Given the description of an element on the screen output the (x, y) to click on. 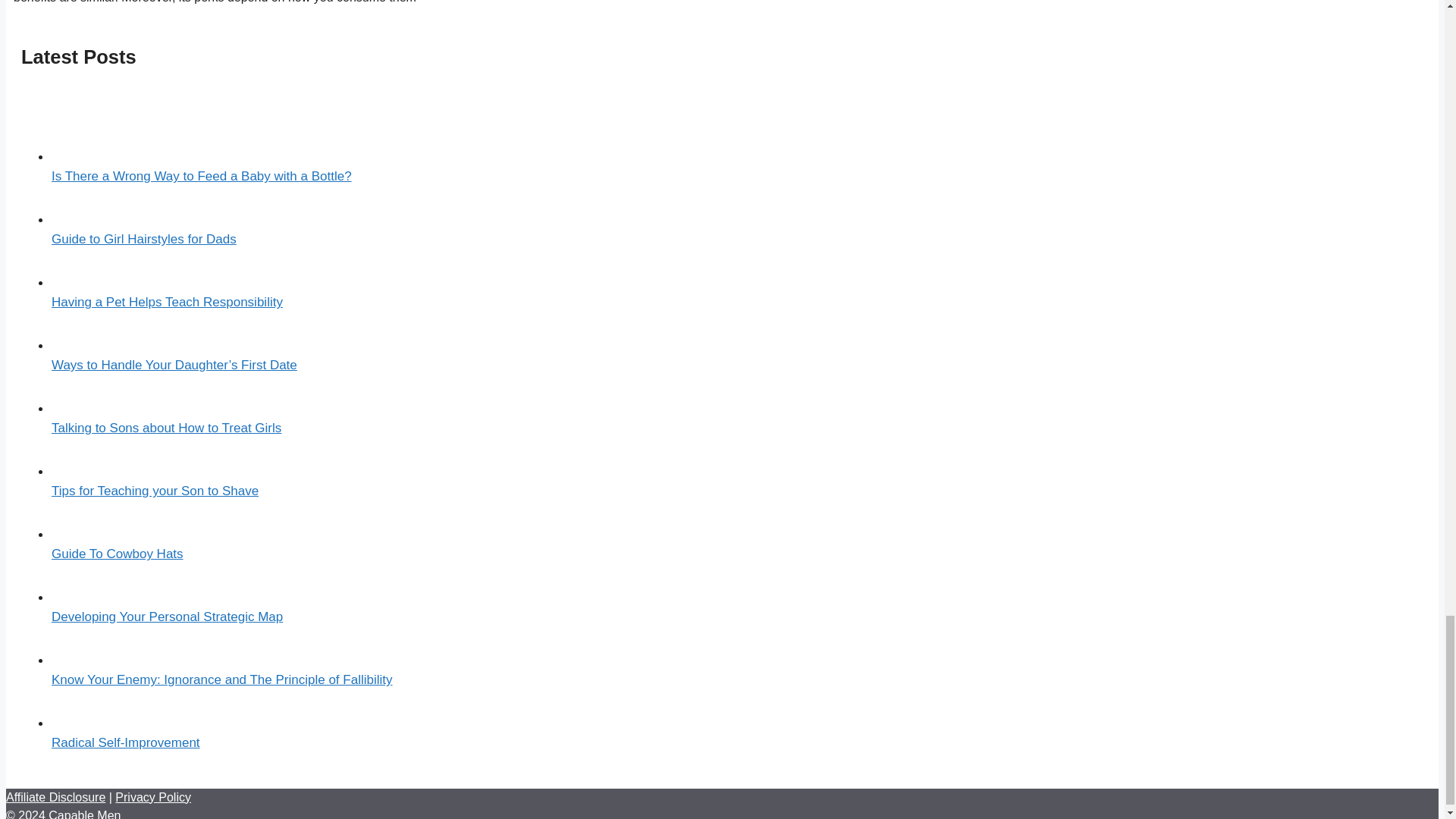
Guide to Girl Hairstyles for Dads (142, 238)
Having a Pet Helps Teach Responsibility (166, 301)
Talking to Sons about How to Treat Girls (165, 427)
Is There a Wrong Way to Feed a Baby with a Bottle? (201, 175)
